Given the description of an element on the screen output the (x, y) to click on. 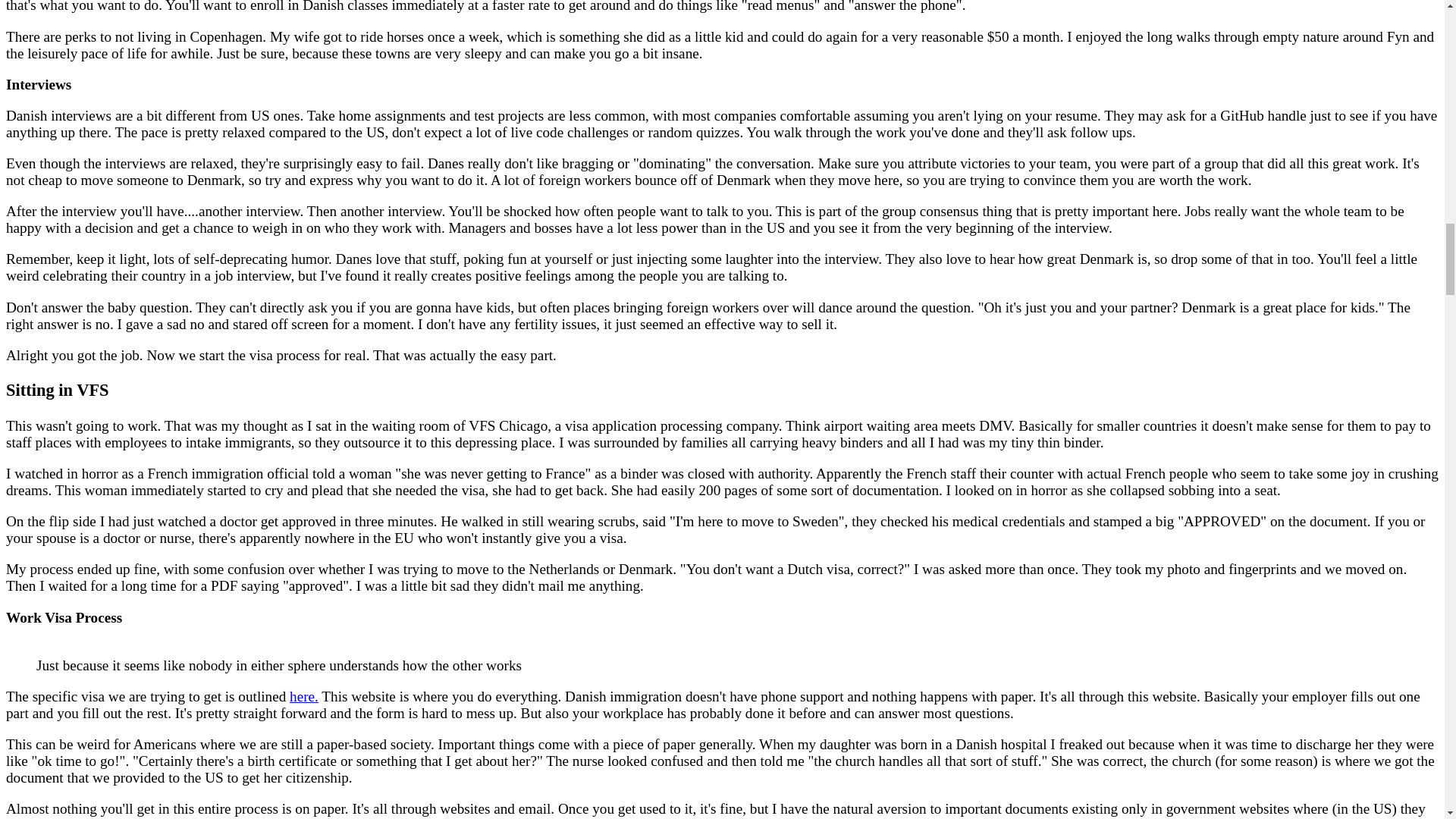
here. (303, 696)
